Given the description of an element on the screen output the (x, y) to click on. 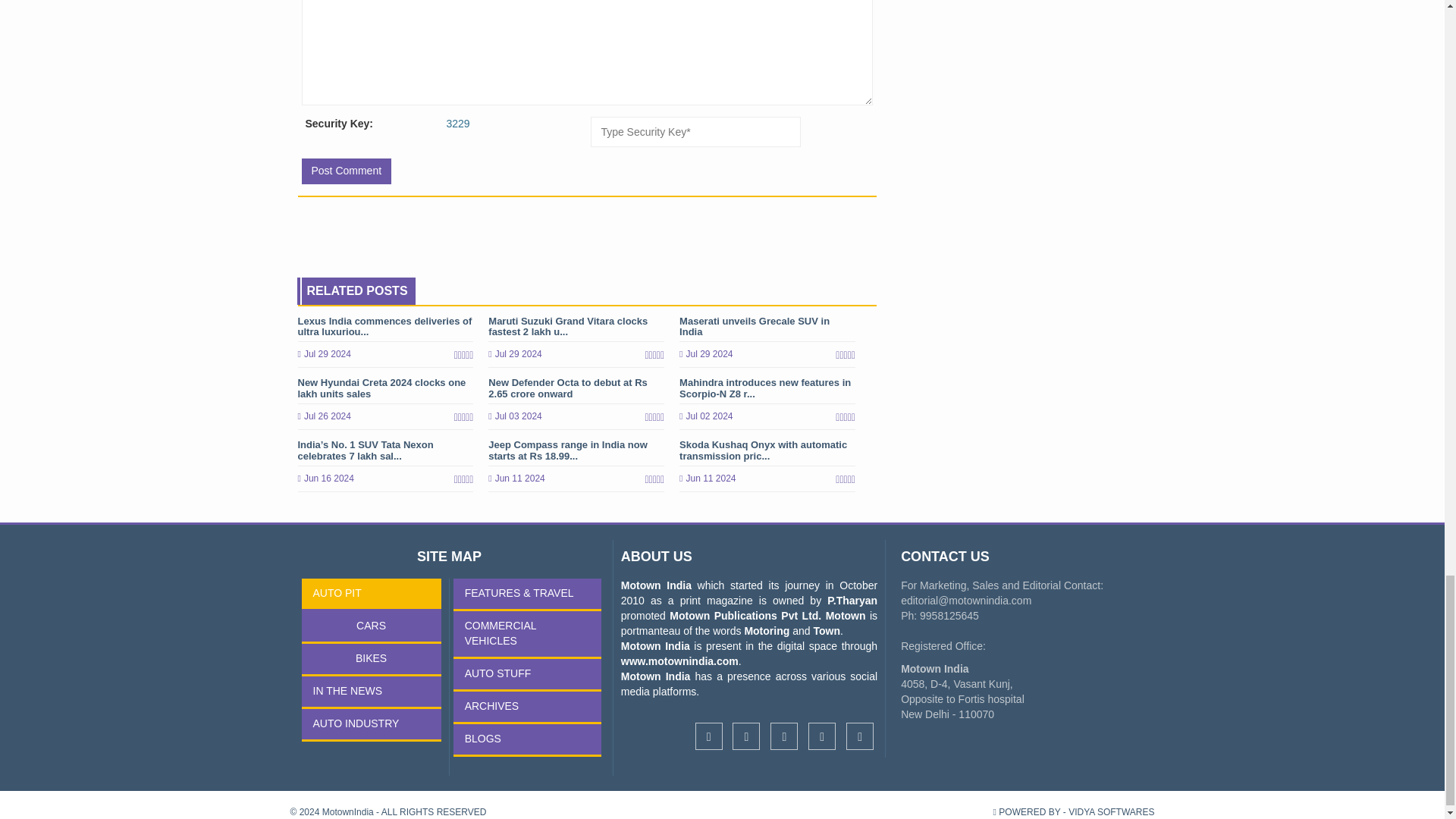
Post Comment (346, 171)
